Given the description of an element on the screen output the (x, y) to click on. 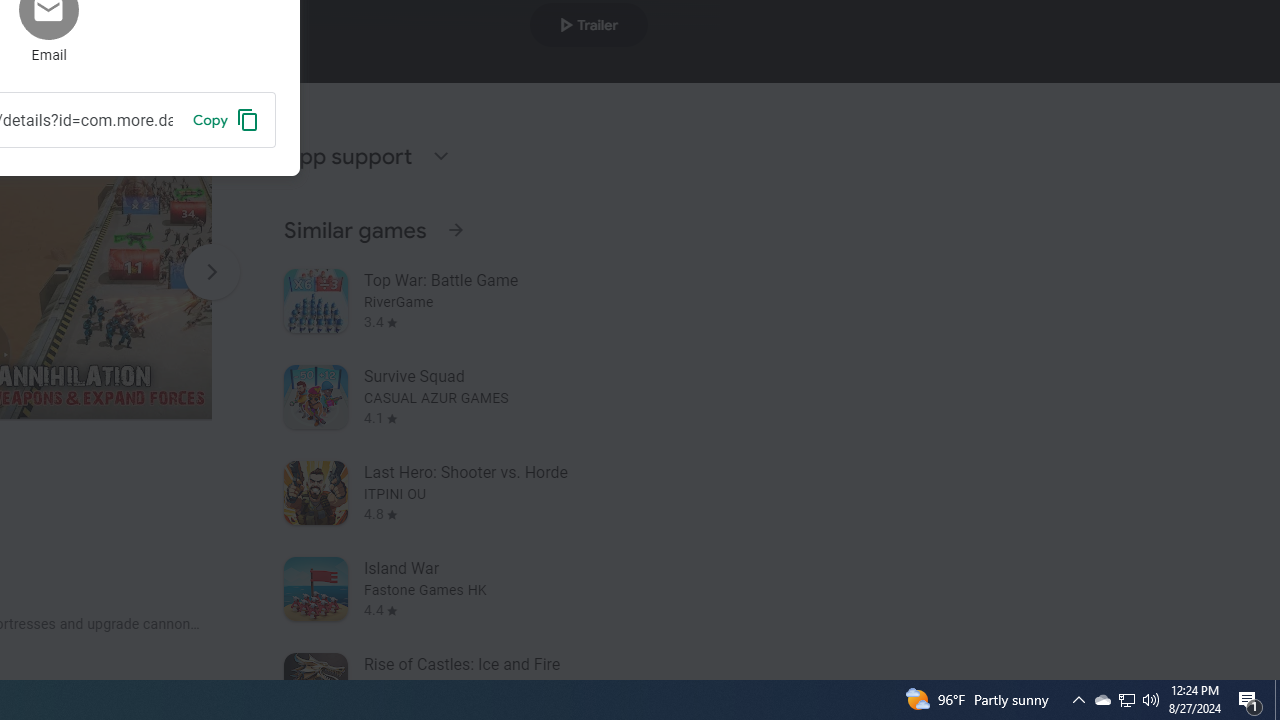
Copy link to clipboard (225, 119)
